Given the description of an element on the screen output the (x, y) to click on. 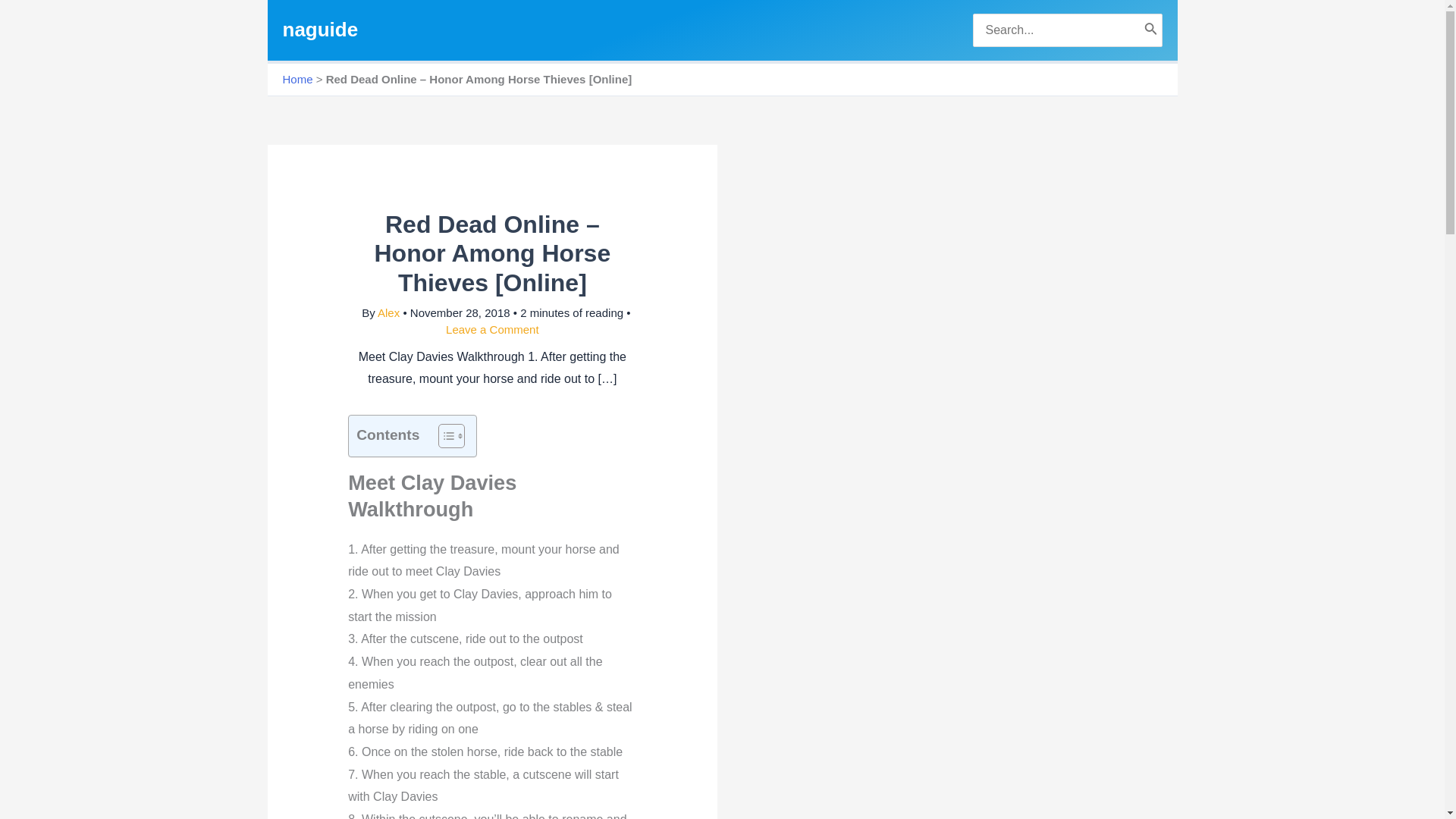
View all posts by Alex (390, 312)
naguide (320, 29)
Home (297, 78)
Alex (390, 312)
Leave a Comment (491, 328)
